Given the description of an element on the screen output the (x, y) to click on. 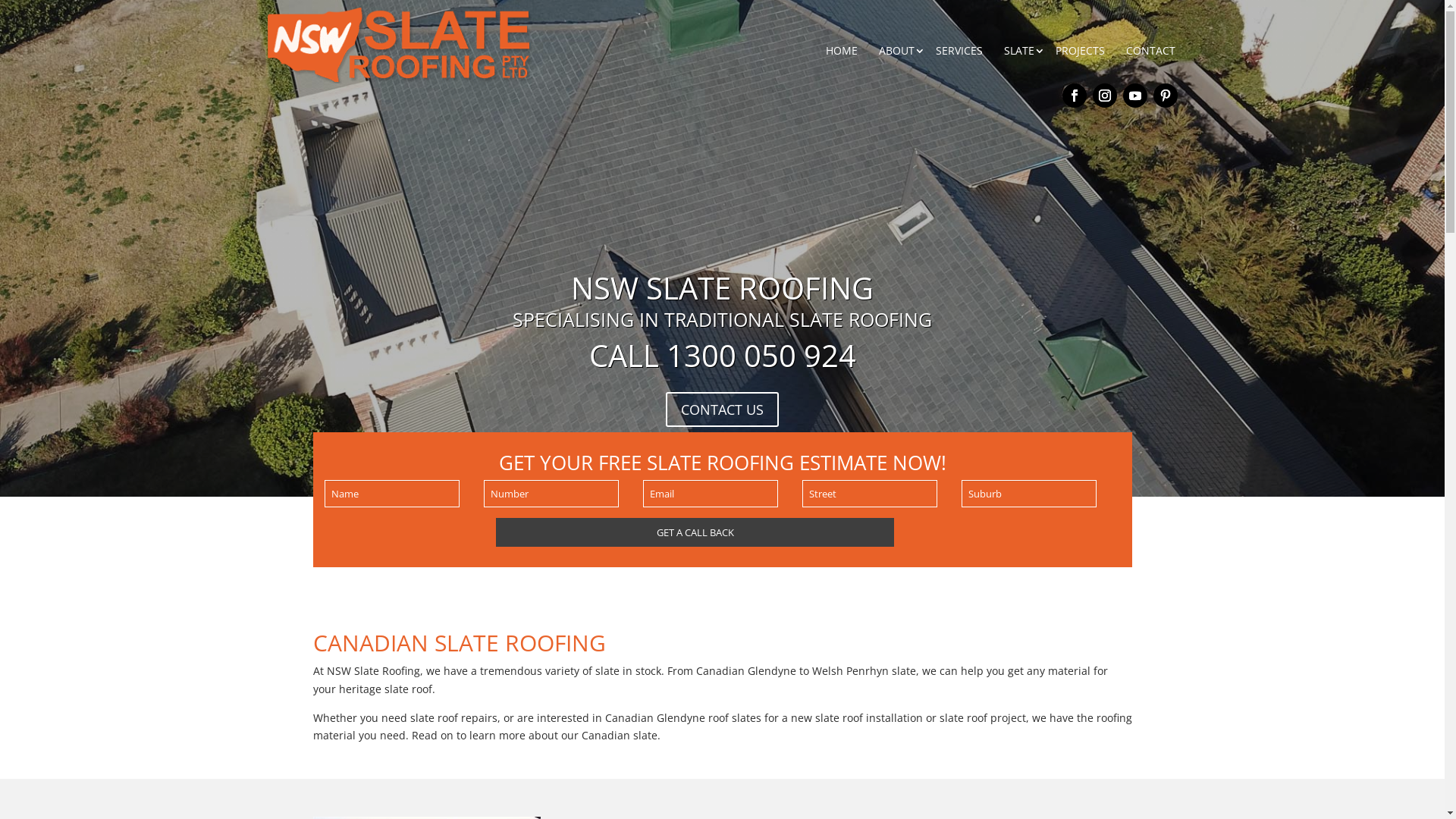
CONTACT US Element type: text (721, 409)
NSW SLATE ROOFING Element type: text (722, 287)
Follow on Pinterest Element type: hover (1164, 95)
ABOUT Element type: text (895, 37)
Follow on Instagram Element type: hover (1104, 95)
Follow on Youtube Element type: hover (1134, 95)
CONTACT Element type: text (1149, 37)
Follow on Facebook Element type: hover (1073, 95)
3 Element type: text (734, 466)
SLATE Element type: text (1018, 37)
1 Element type: text (709, 466)
GET A CALL BACK Element type: text (694, 531)
HOME Element type: text (840, 37)
2 Element type: text (721, 466)
PROJECTS Element type: text (1079, 37)
CALL 1300 050 924 Element type: text (721, 355)
SERVICES Element type: text (959, 37)
logo-e1532821556966 Element type: hover (399, 45)
